Given the description of an element on the screen output the (x, y) to click on. 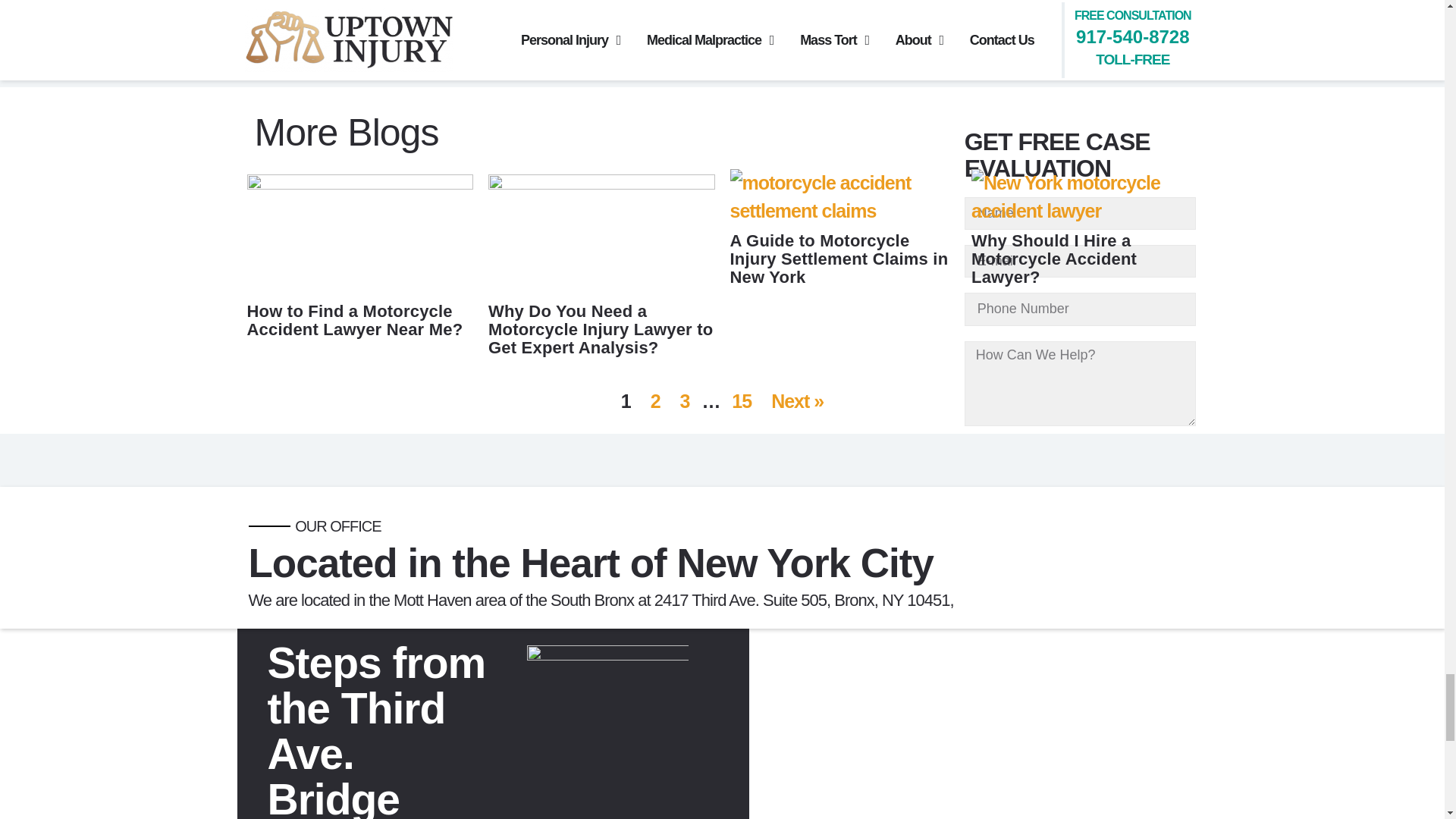
How to Find a Motorcycle Accident Lawyer Near Me? (360, 182)
uptown injury law pllc new york (978, 724)
Why Should I Hire a Motorcycle Accident Lawyer? (1084, 210)
A Guide to Motorcycle Injury Settlement Claims in New York (842, 210)
